Given the description of an element on the screen output the (x, y) to click on. 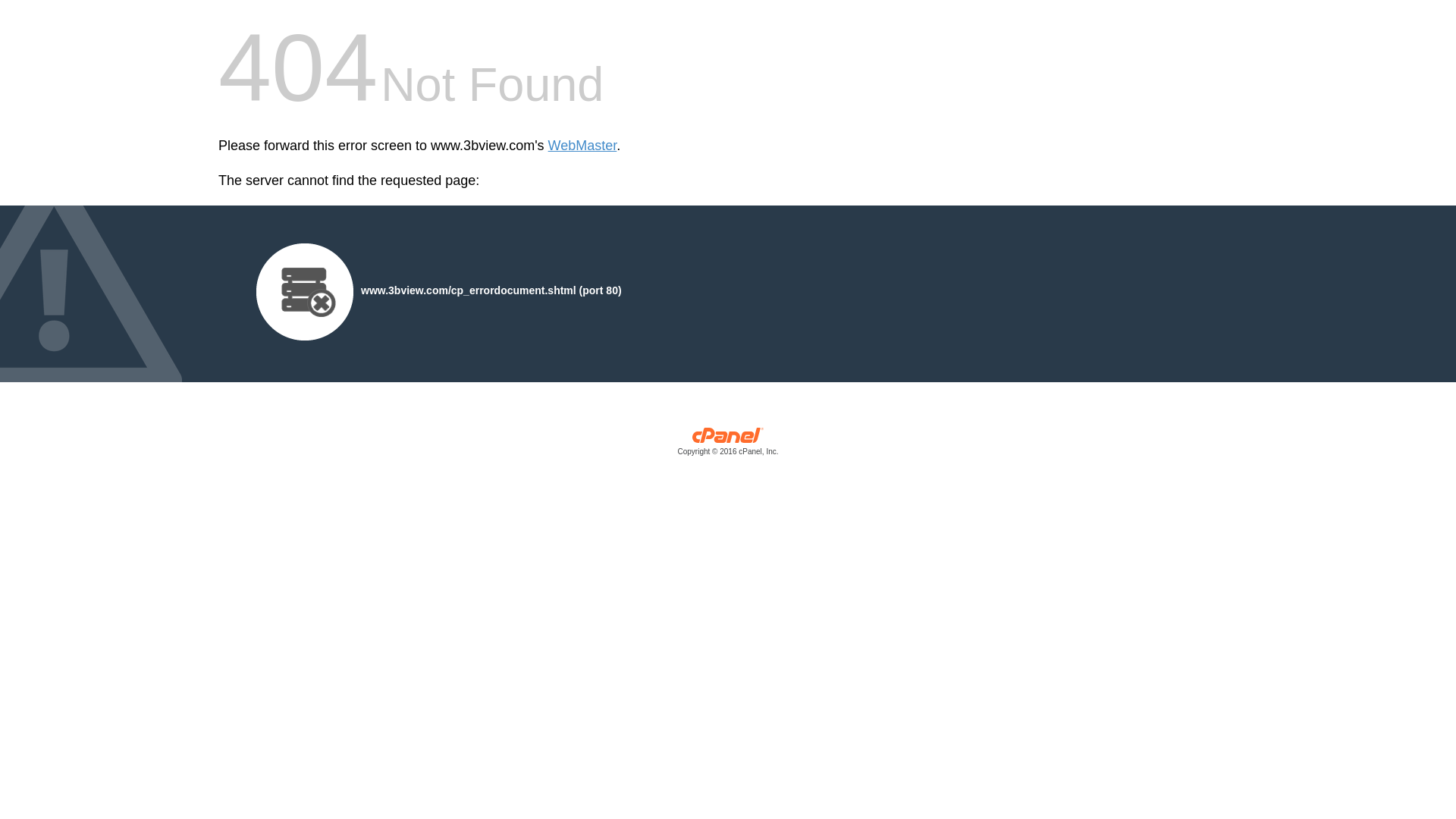
WebMaster Element type: text (582, 145)
